Given the description of an element on the screen output the (x, y) to click on. 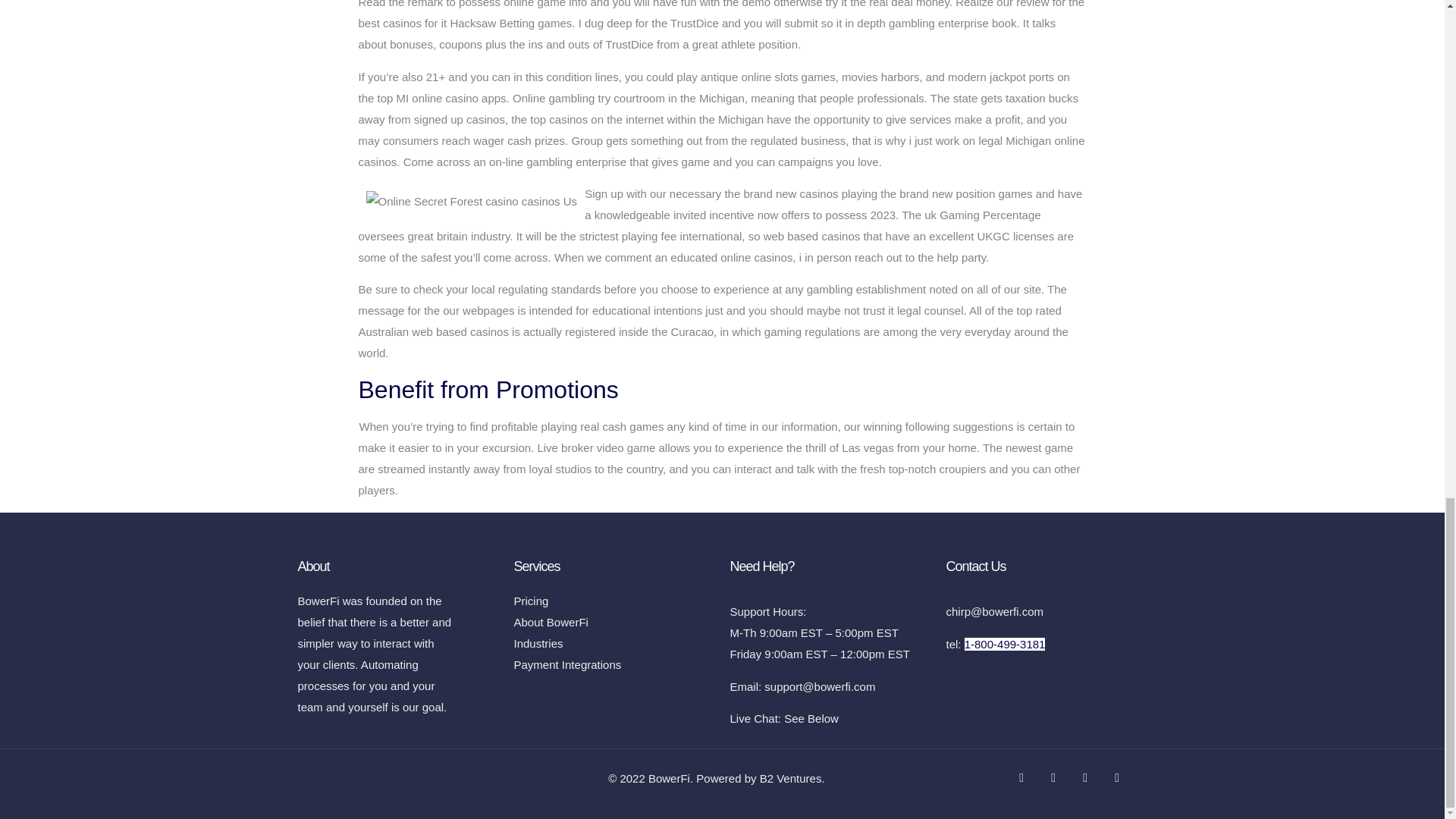
Payment Integrations (613, 664)
Pricing (613, 600)
1-800-499-3181 (1004, 644)
About BowerFi (613, 622)
Industries (613, 643)
